Given the description of an element on the screen output the (x, y) to click on. 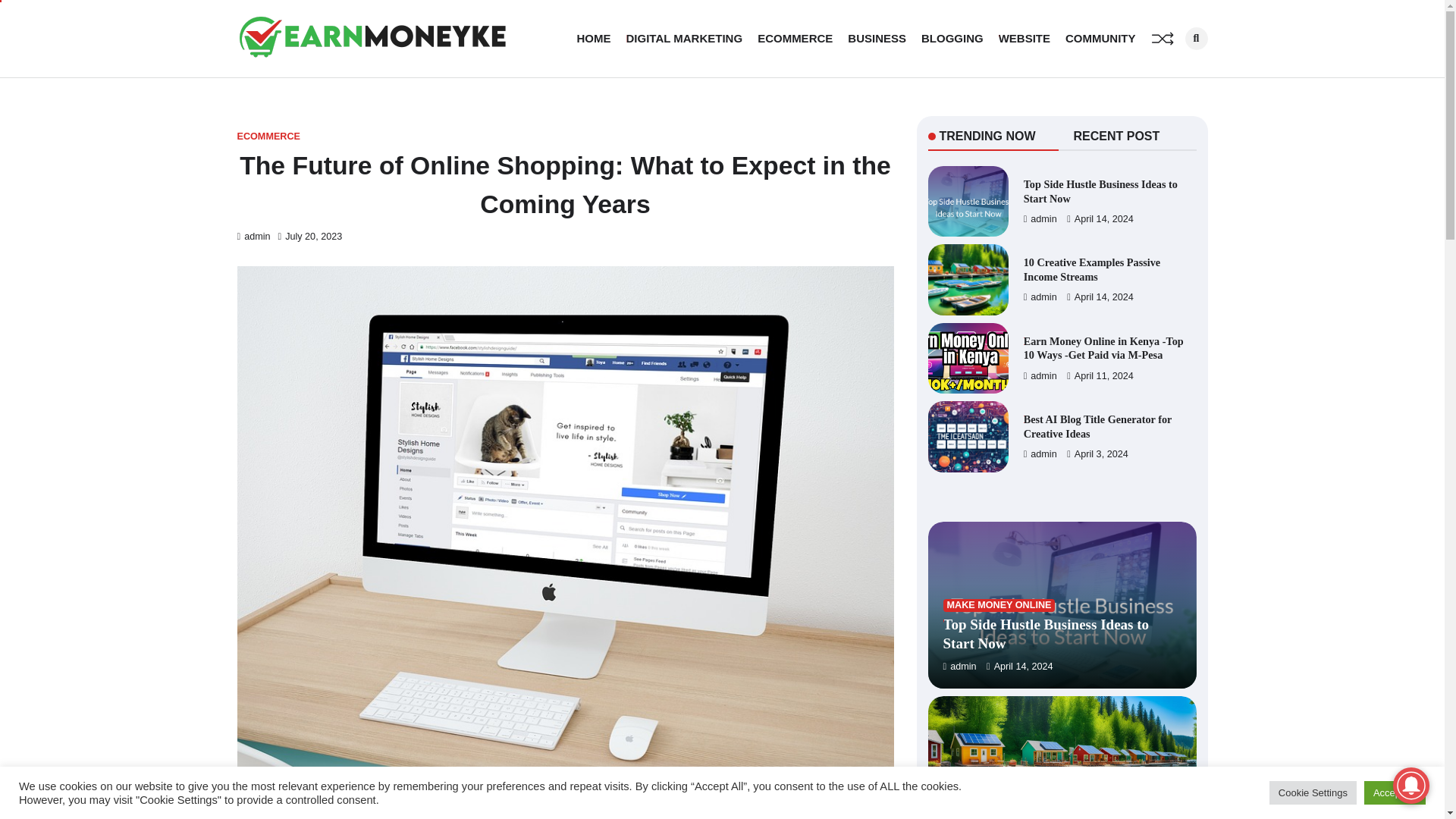
WEBSITE (1023, 38)
COMMUNITY (1100, 38)
HOME (593, 38)
Search (1196, 38)
BLOGGING (952, 38)
DIGITAL MARKETING (684, 38)
BUSINESS (876, 38)
admin (252, 235)
July 20, 2023 (310, 235)
ECOMMERCE (794, 38)
ECOMMERCE (267, 136)
Advertisement (564, 805)
Search (997, 98)
